Given the description of an element on the screen output the (x, y) to click on. 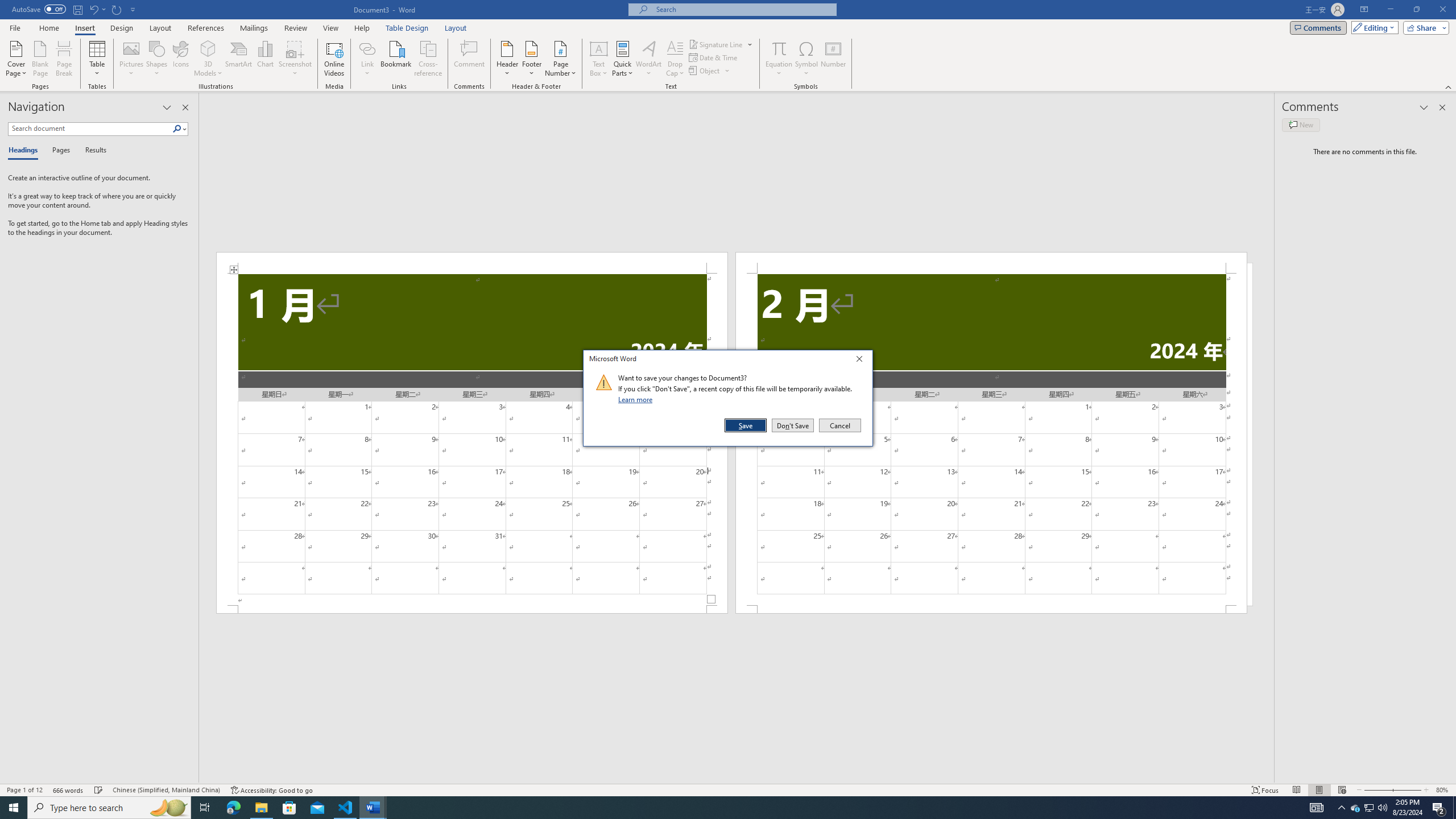
Online Videos... (333, 58)
Header (507, 58)
Accessibility Checker Accessibility: Good to go (271, 790)
Learn more (636, 399)
Don't Save (792, 425)
Type here to search (108, 807)
3D Models (208, 58)
